Given the description of an element on the screen output the (x, y) to click on. 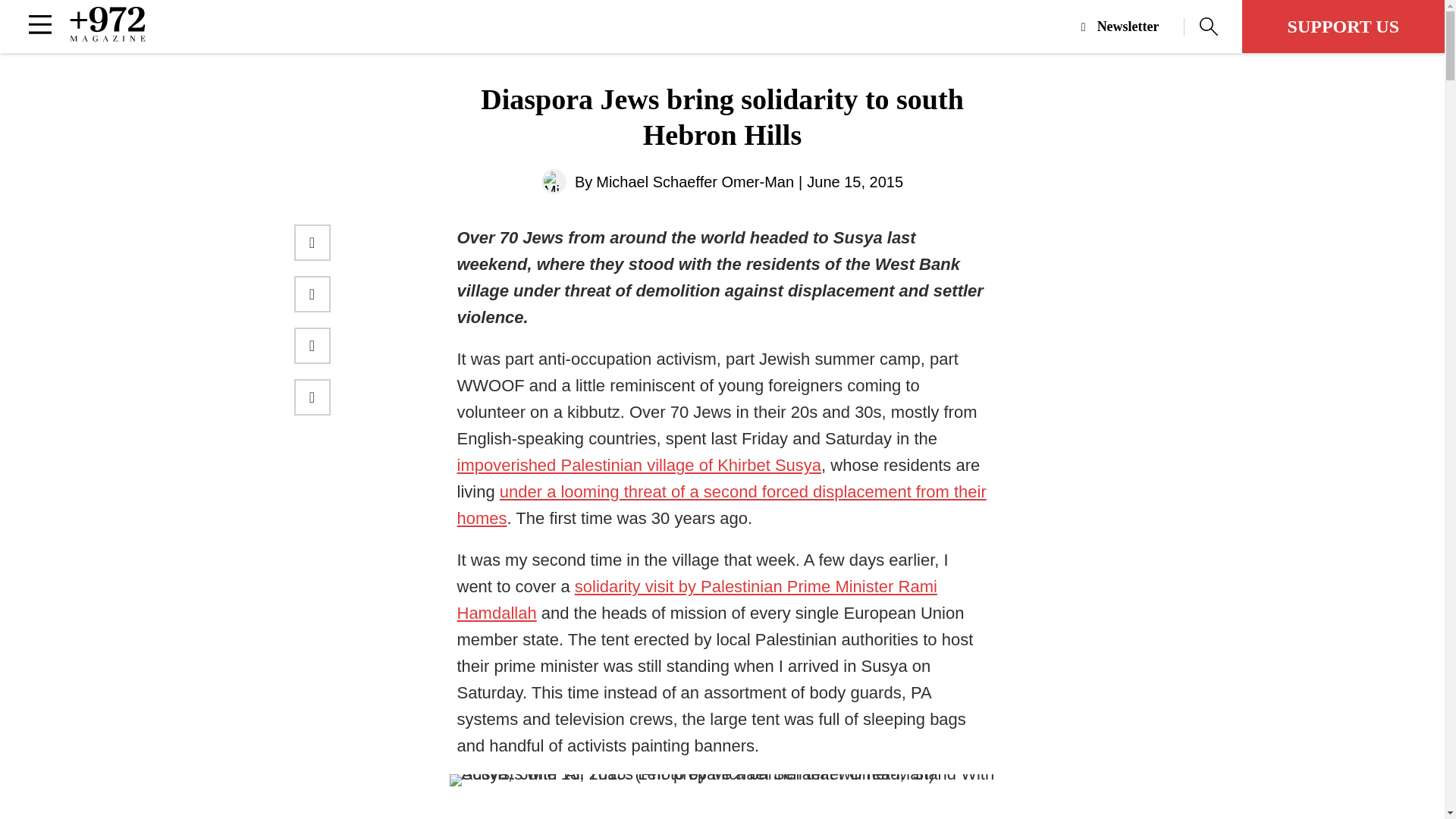
Newsletter (1133, 27)
Michael Schaeffer Omer-Man (553, 181)
Michael Schaeffer Omer-Man (694, 181)
impoverished Palestinian village of Khirbet Susya (639, 465)
Michael Schaeffer Omer-Man (694, 181)
